Given the description of an element on the screen output the (x, y) to click on. 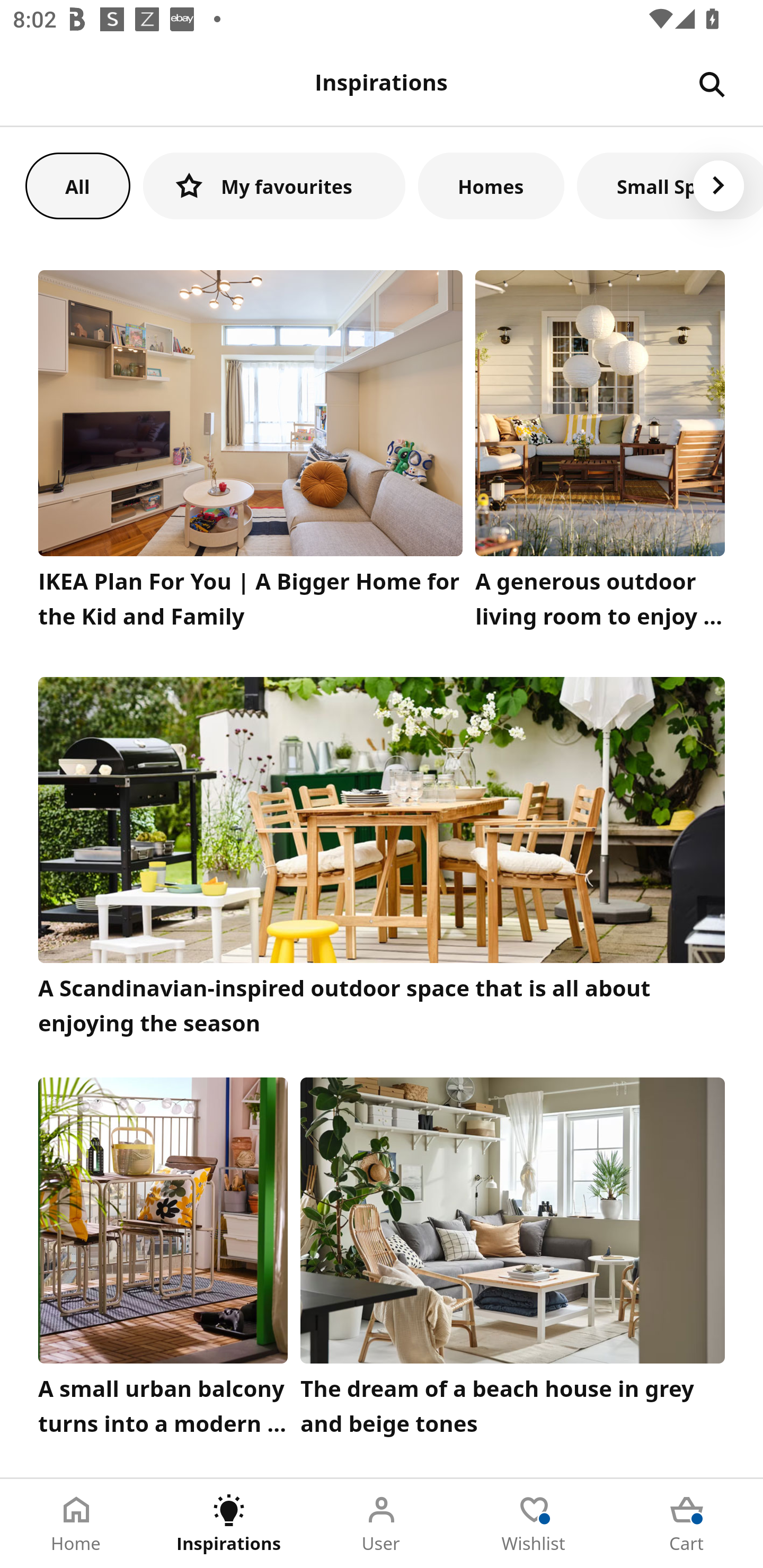
All (77, 185)
My favourites (274, 185)
Homes (491, 185)
The dream of a beach house in grey and beige tones (512, 1261)
Home
Tab 1 of 5 (76, 1522)
Inspirations
Tab 2 of 5 (228, 1522)
User
Tab 3 of 5 (381, 1522)
Wishlist
Tab 4 of 5 (533, 1522)
Cart
Tab 5 of 5 (686, 1522)
